Given the description of an element on the screen output the (x, y) to click on. 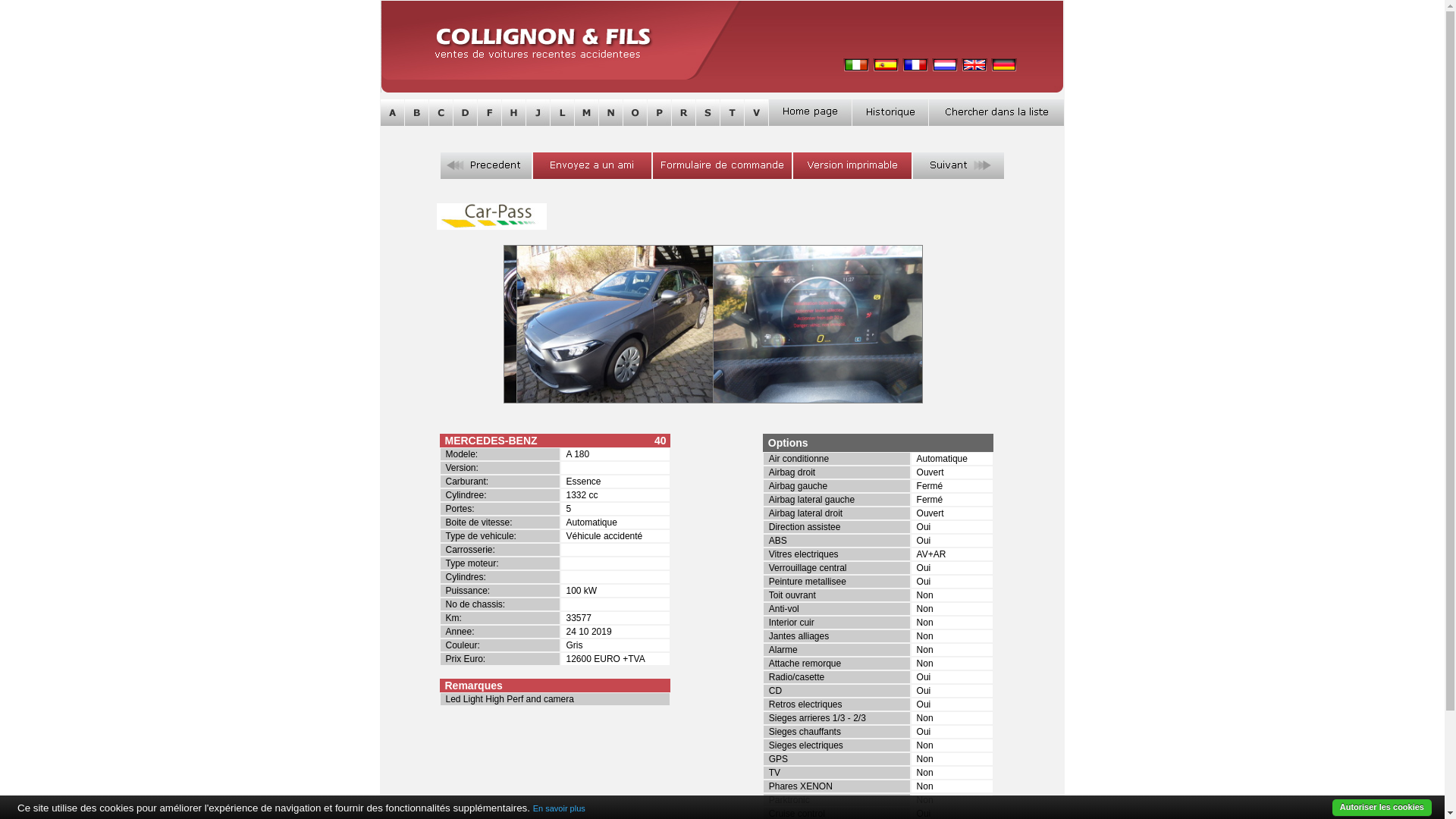
Autoriser les cookies Element type: text (1381, 807)
En savoir plus Element type: text (559, 807)
